Given the description of an element on the screen output the (x, y) to click on. 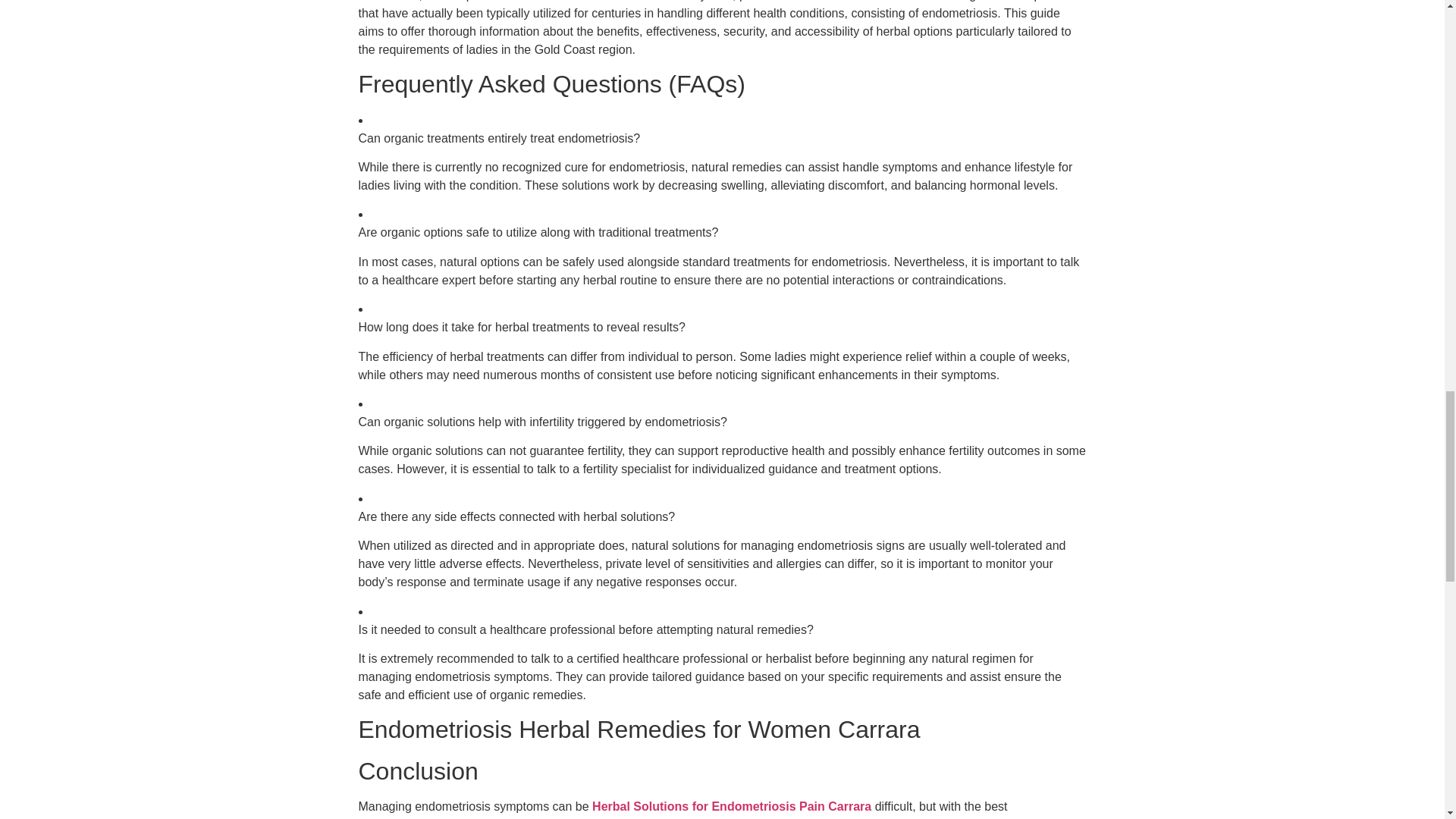
Herbal Solutions for Endometriosis Pain Carrara (731, 806)
